Given the description of an element on the screen output the (x, y) to click on. 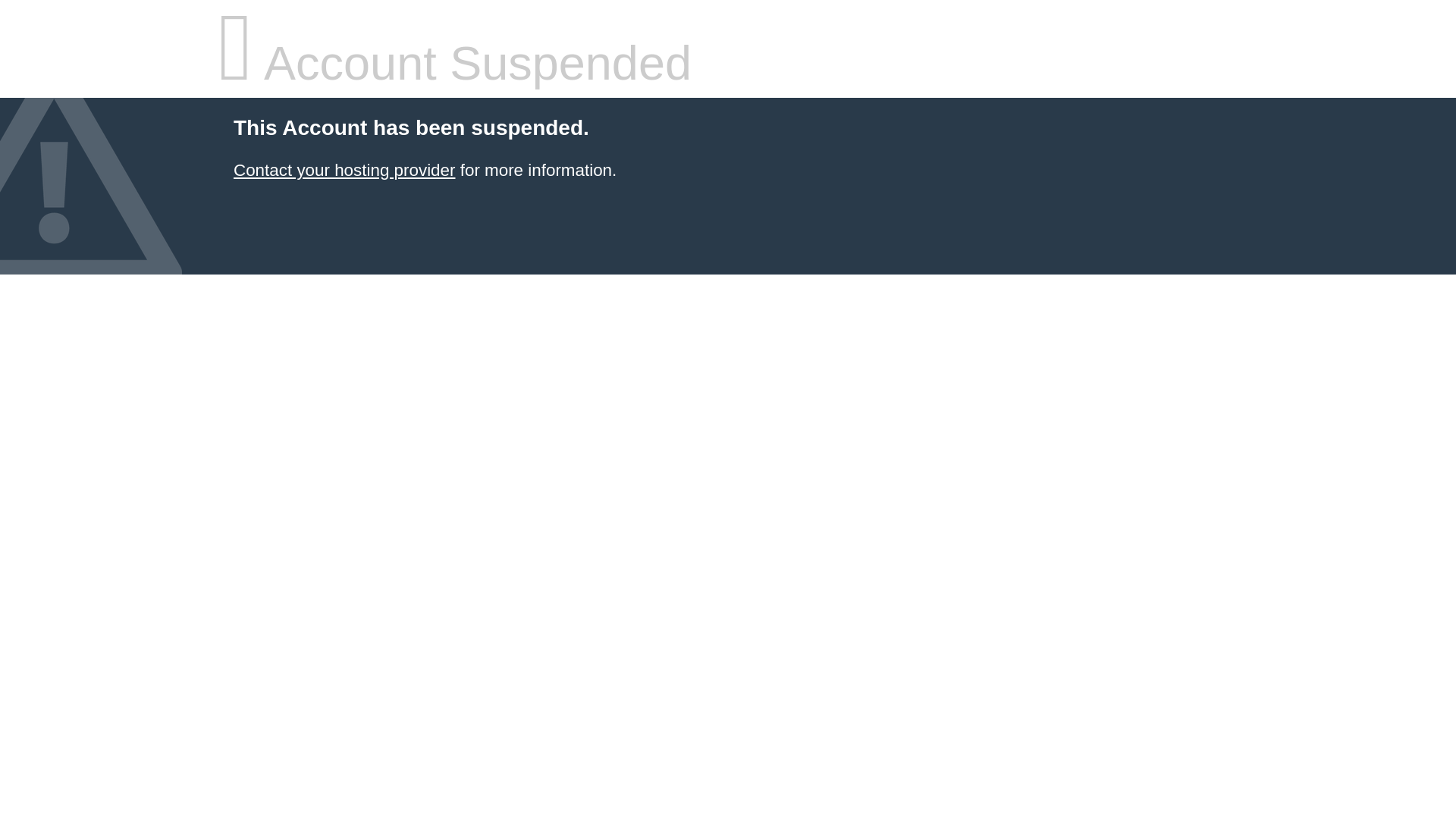
Hosting Ireland (343, 169)
Contact your hosting provider (343, 169)
